Given the description of an element on the screen output the (x, y) to click on. 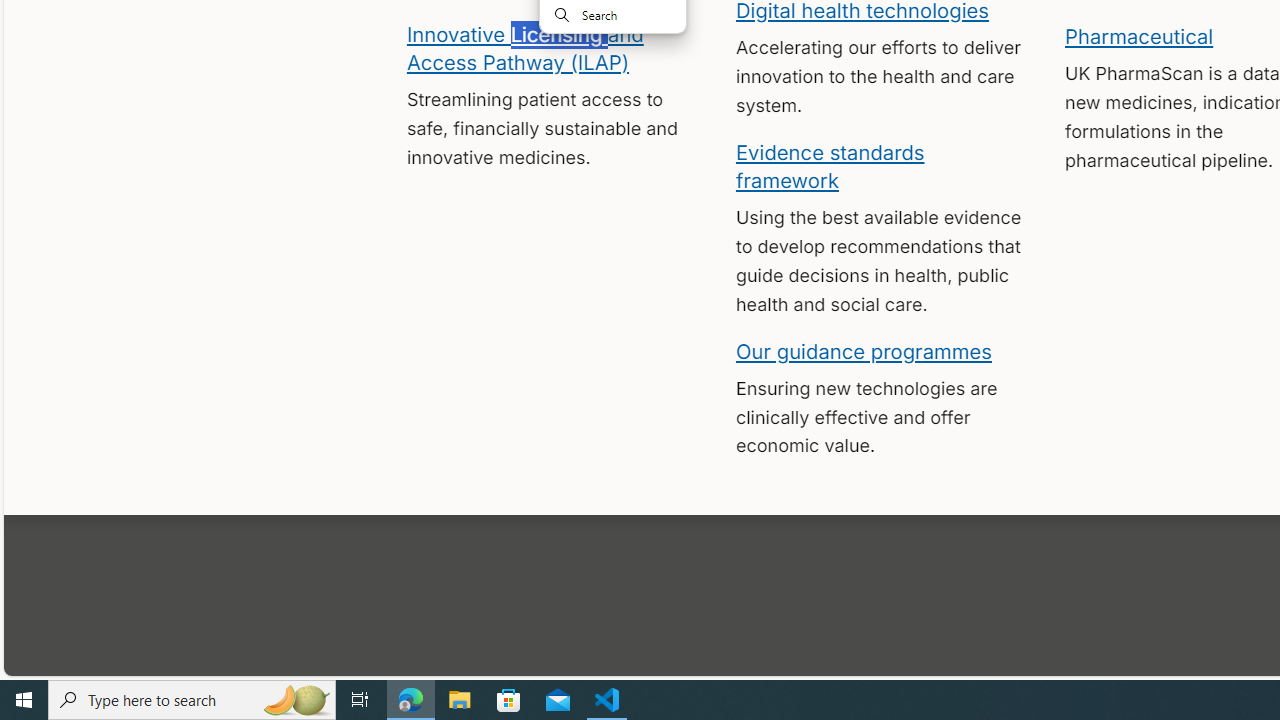
Innovative Licensing and Access Pathway (ILAP) (524, 47)
Our guidance programmes (863, 350)
Pharmaceutical (1138, 35)
Evidence standards framework (829, 165)
